Given the description of an element on the screen output the (x, y) to click on. 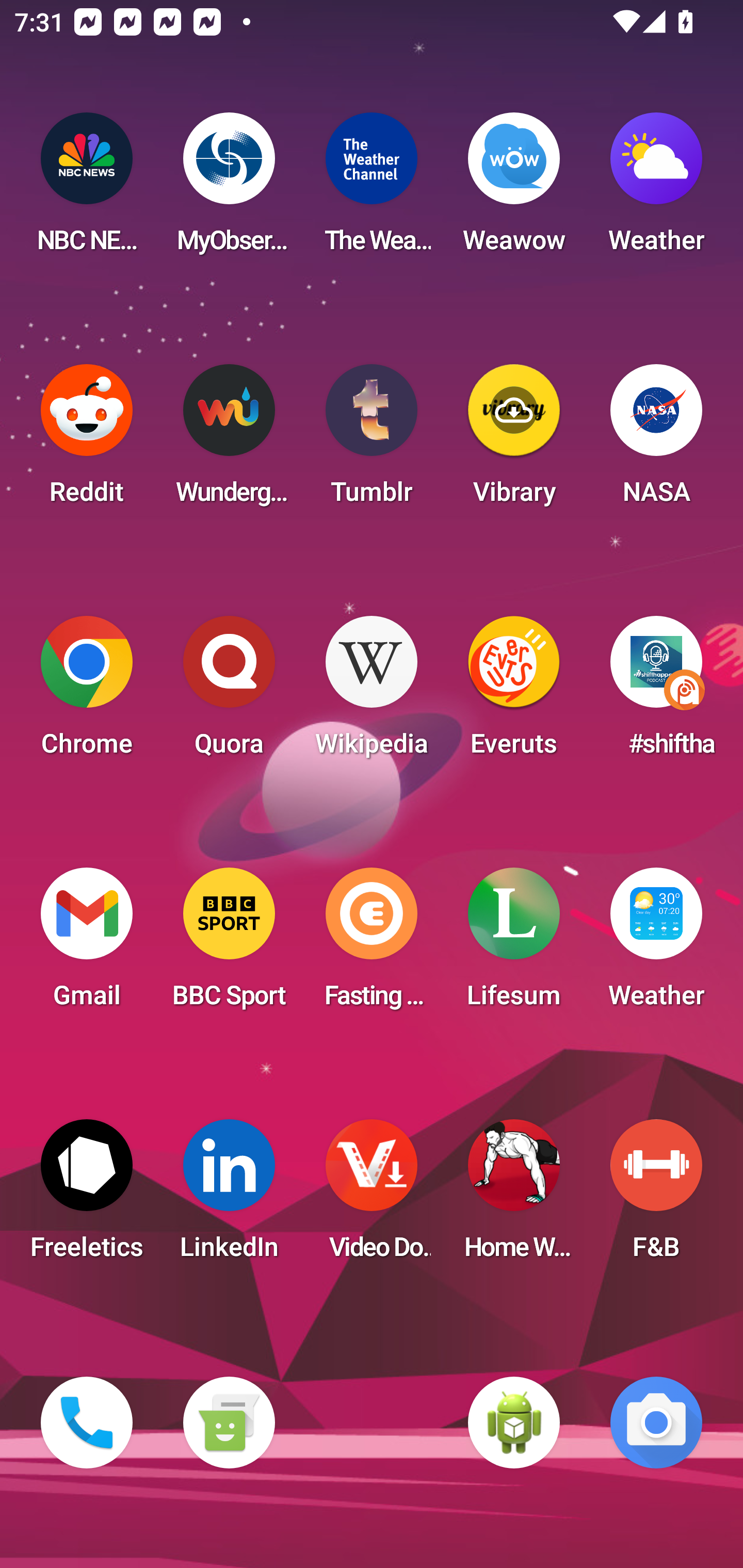
NBC NEWS (86, 188)
MyObservatory (228, 188)
The Weather Channel (371, 188)
Weawow (513, 188)
Weather (656, 188)
Reddit (86, 440)
Wunderground (228, 440)
Tumblr (371, 440)
Vibrary (513, 440)
NASA (656, 440)
Chrome (86, 692)
Quora (228, 692)
Wikipedia (371, 692)
Everuts (513, 692)
#shifthappens in the Digital Workplace Podcast (656, 692)
Gmail (86, 943)
BBC Sport (228, 943)
Fasting Coach (371, 943)
Lifesum (513, 943)
Weather (656, 943)
Freeletics (86, 1195)
LinkedIn (228, 1195)
Video Downloader & Ace Player (371, 1195)
Home Workout (513, 1195)
F&B (656, 1195)
Phone (86, 1422)
Messaging (228, 1422)
WebView Browser Tester (513, 1422)
Camera (656, 1422)
